Given the description of an element on the screen output the (x, y) to click on. 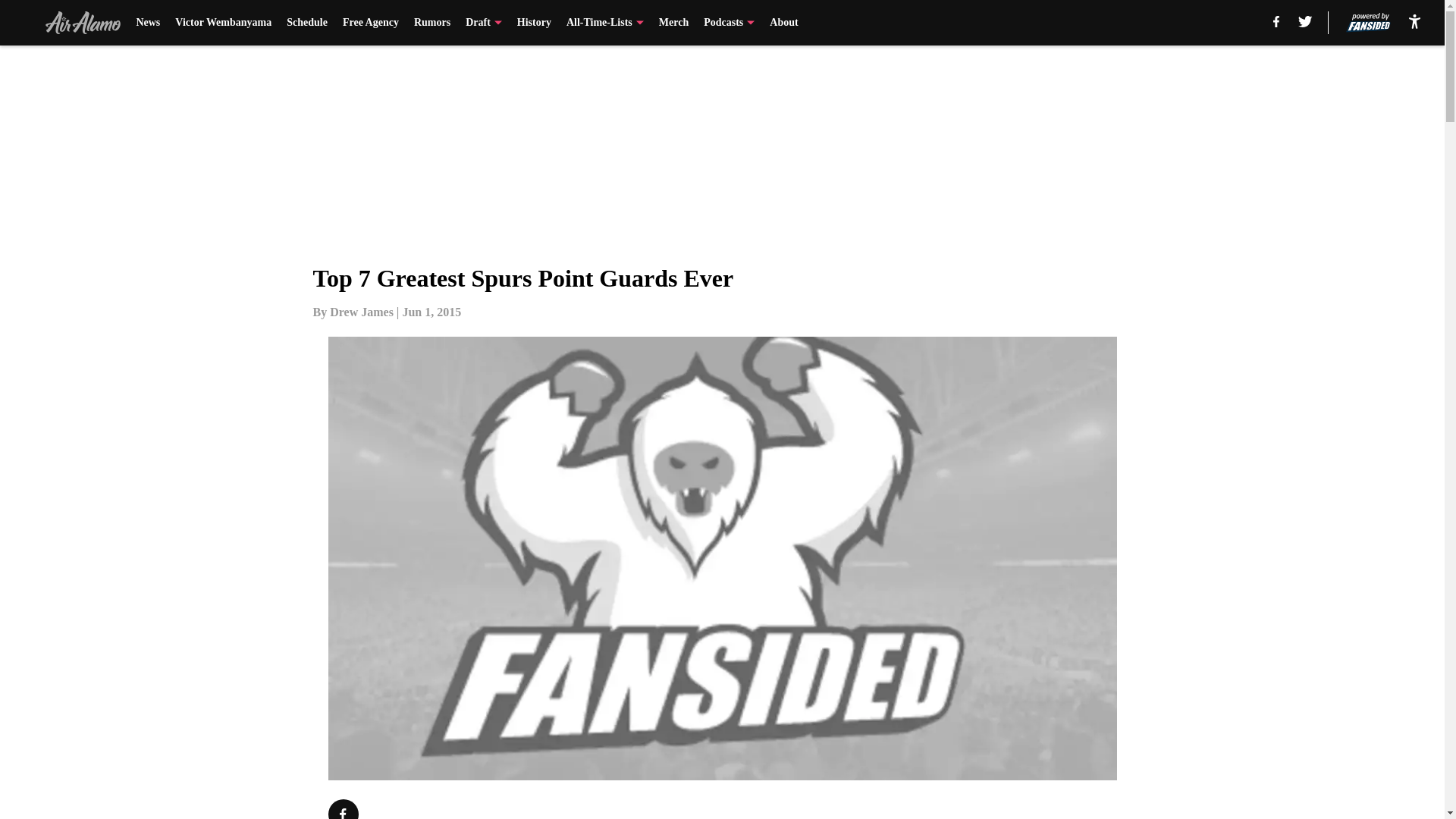
Merch (673, 22)
Victor Wembanyama (222, 22)
About (783, 22)
Rumors (431, 22)
Free Agency (370, 22)
History (533, 22)
News (147, 22)
Draft (483, 22)
Schedule (306, 22)
